Given the description of an element on the screen output the (x, y) to click on. 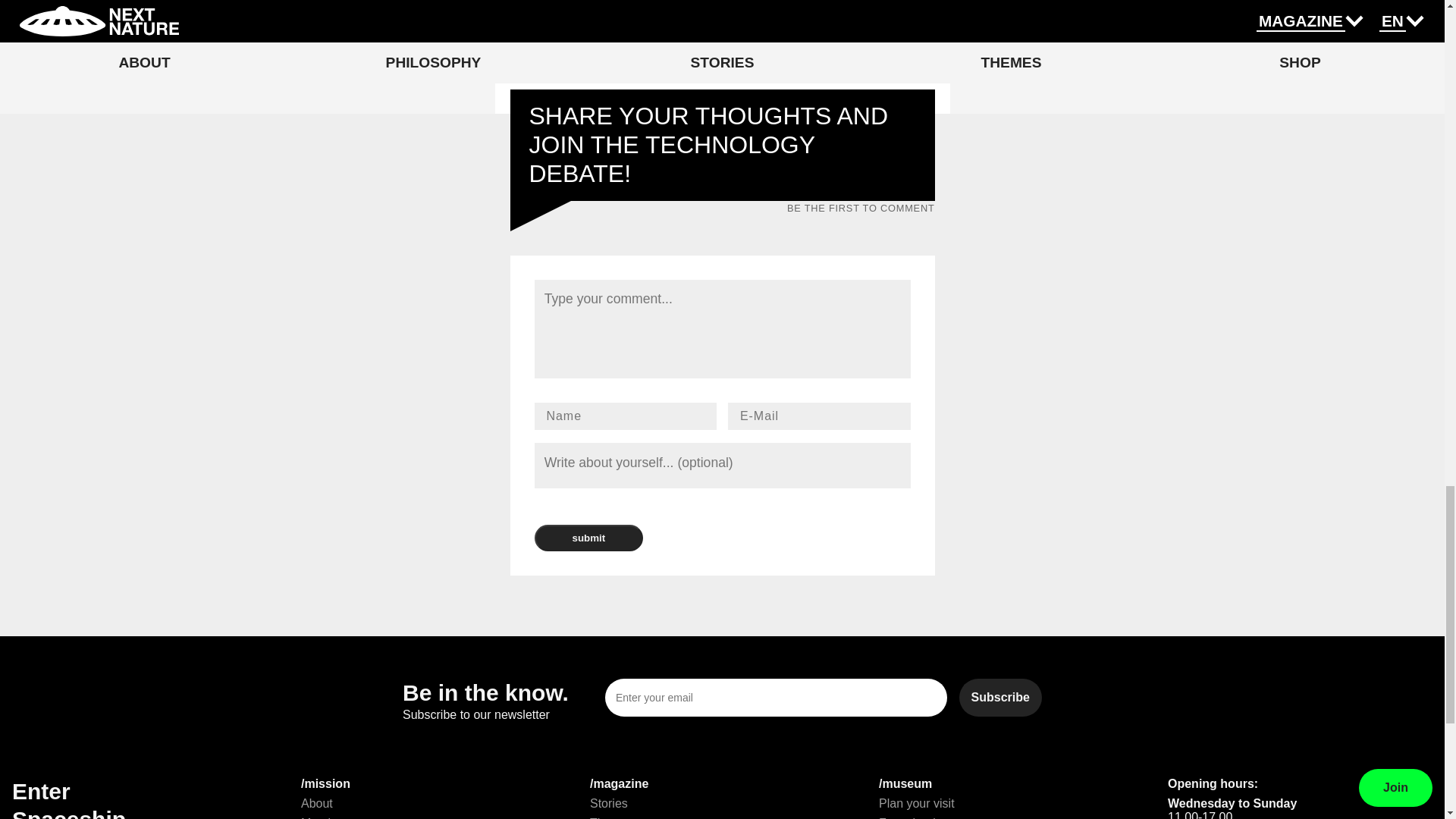
submit (588, 537)
About (317, 802)
Subscribe (1000, 697)
Members (326, 817)
